Given the description of an element on the screen output the (x, y) to click on. 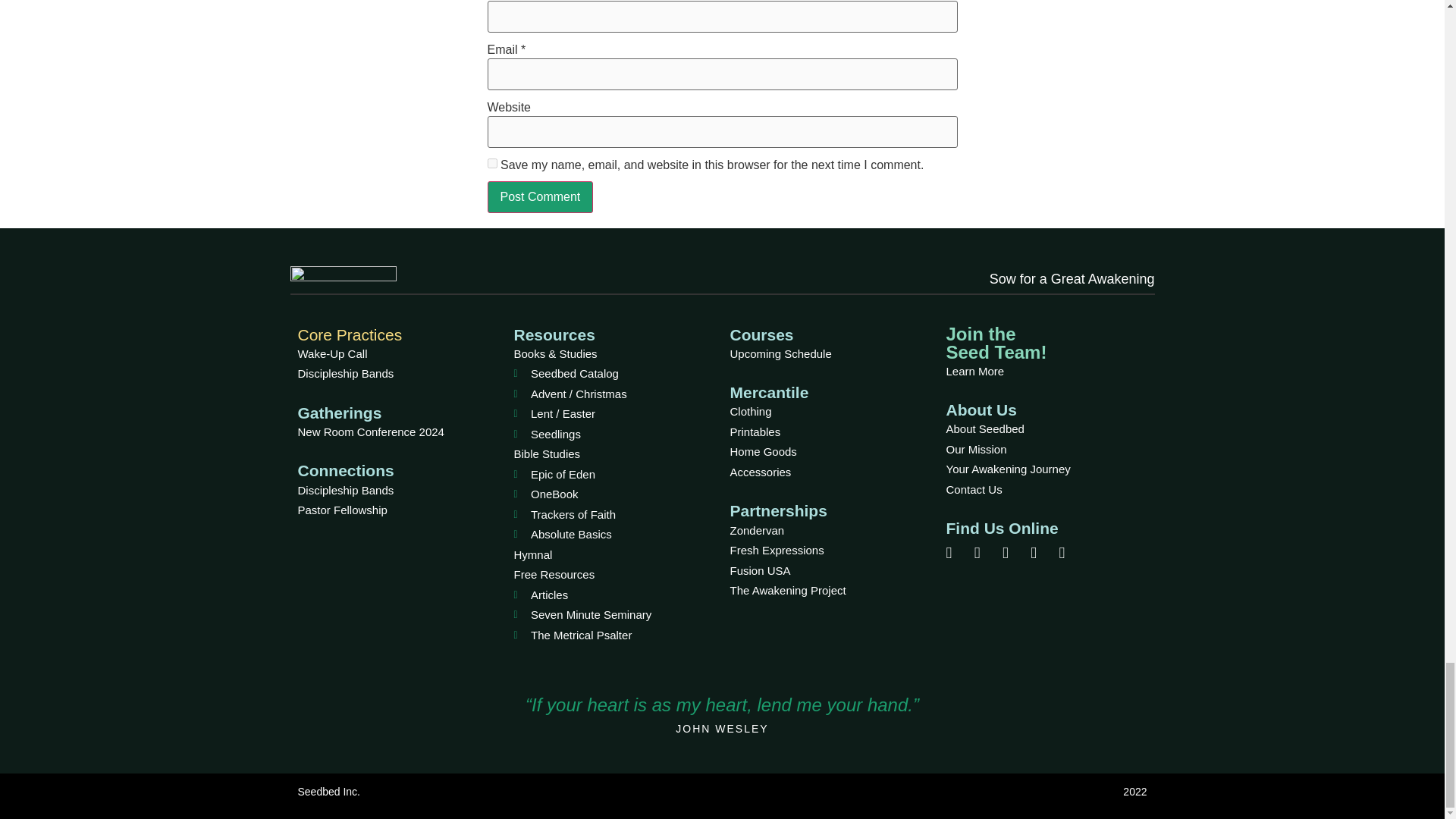
yes (491, 163)
Post Comment (539, 196)
